Given the description of an element on the screen output the (x, y) to click on. 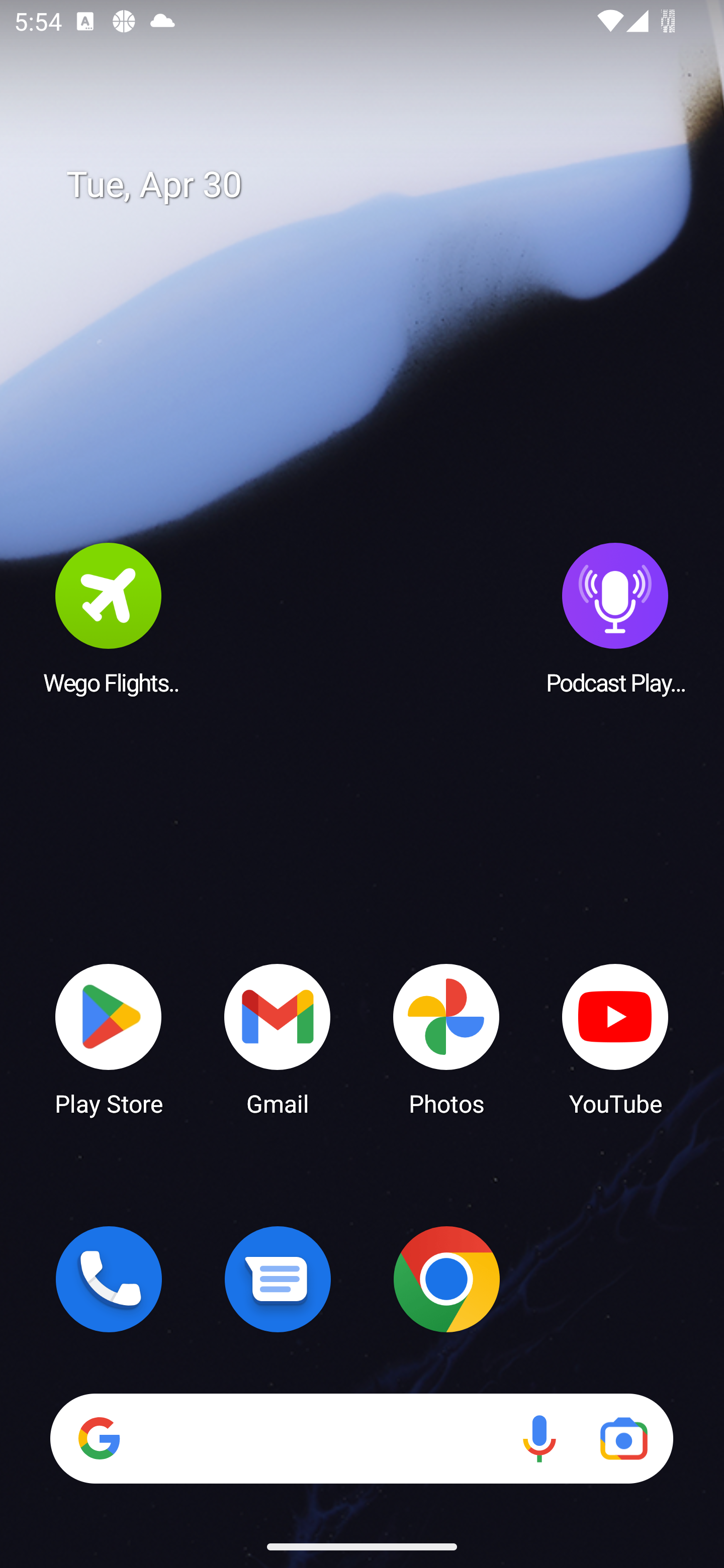
Tue, Apr 30 (375, 184)
Wego Flights & Hotels (108, 617)
Podcast Player (615, 617)
Play Store (108, 1038)
Gmail (277, 1038)
Photos (445, 1038)
YouTube (615, 1038)
Phone (108, 1279)
Messages (277, 1279)
Chrome (446, 1279)
Voice search (539, 1438)
Google Lens (623, 1438)
